Given the description of an element on the screen output the (x, y) to click on. 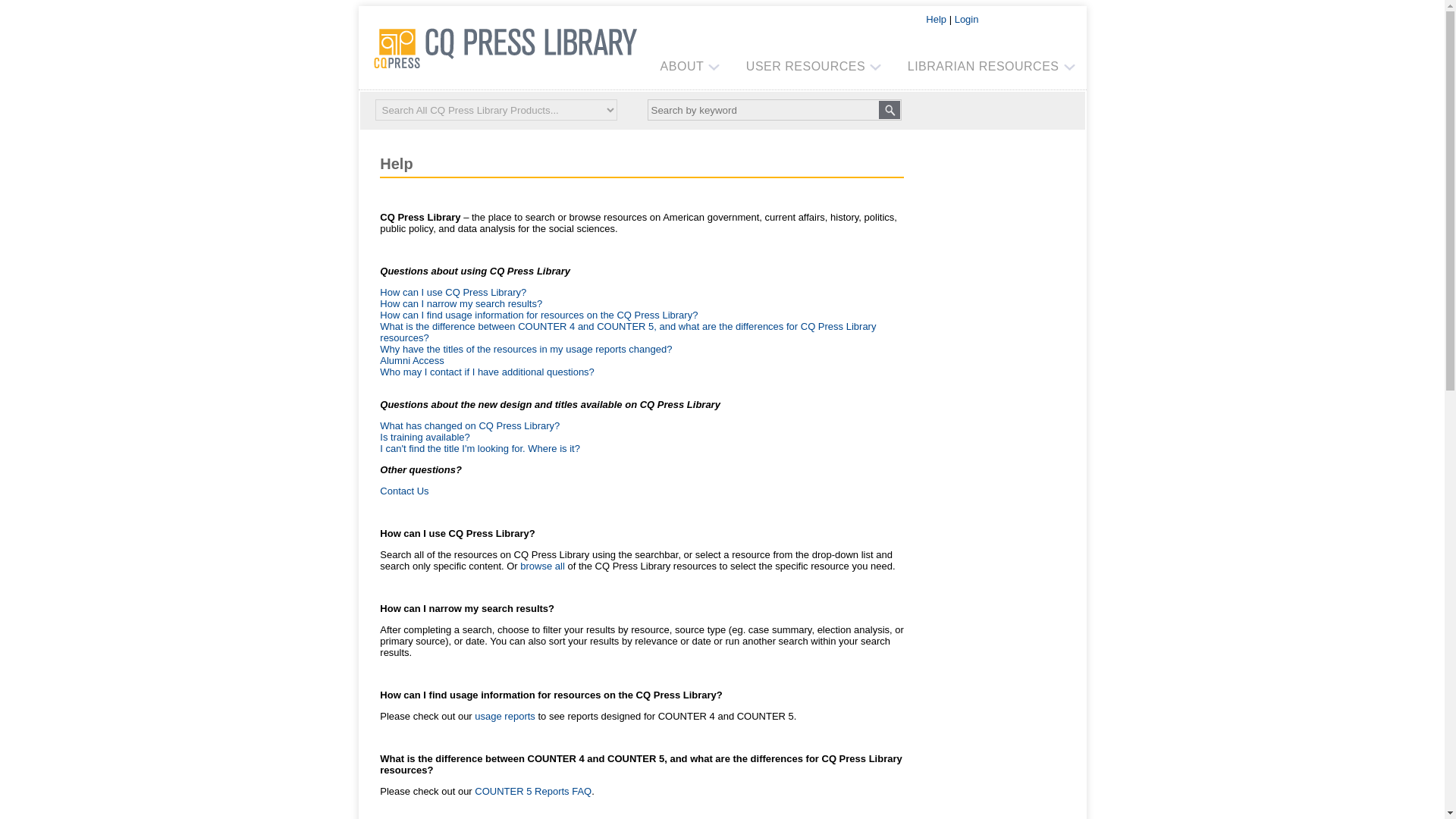
How can I use CQ Press Library? (457, 532)
Login (966, 19)
I can't find the title I'm looking for. Where is it? (479, 448)
Is training available? (425, 437)
CQ Press Library (505, 45)
usage reports (504, 715)
Contact Us (404, 490)
Who may I contact if I have additional questions? (487, 371)
What has changed on CQ Press Library? (469, 425)
How can I use CQ Press Library? (452, 292)
